Given the description of an element on the screen output the (x, y) to click on. 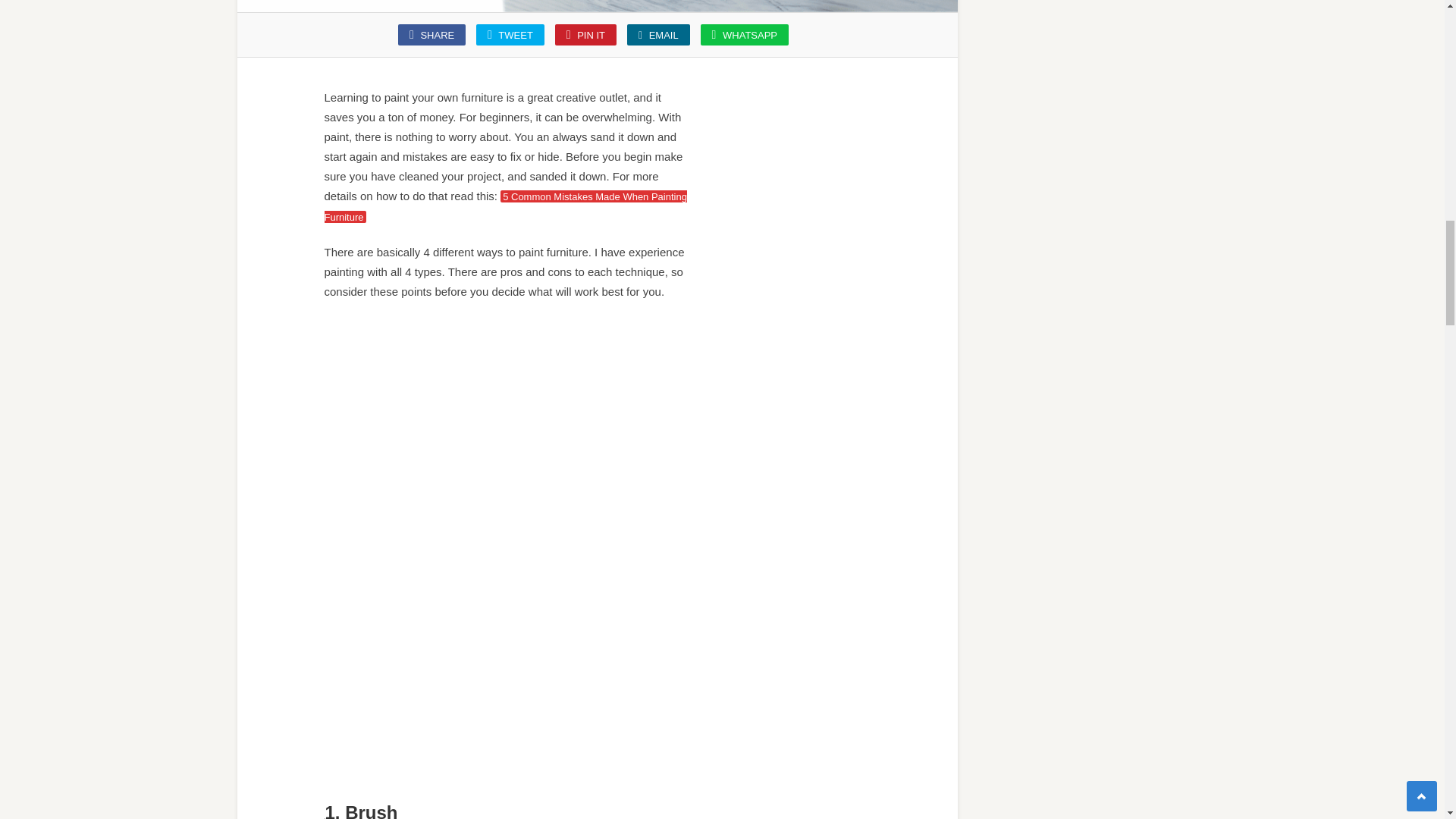
PIN IT (584, 34)
EMAIL (658, 34)
SHARE (431, 34)
5 Common Mistakes Made When Painting Furniture (505, 206)
WHATSAPP (744, 34)
TWEET (510, 34)
